Given the description of an element on the screen output the (x, y) to click on. 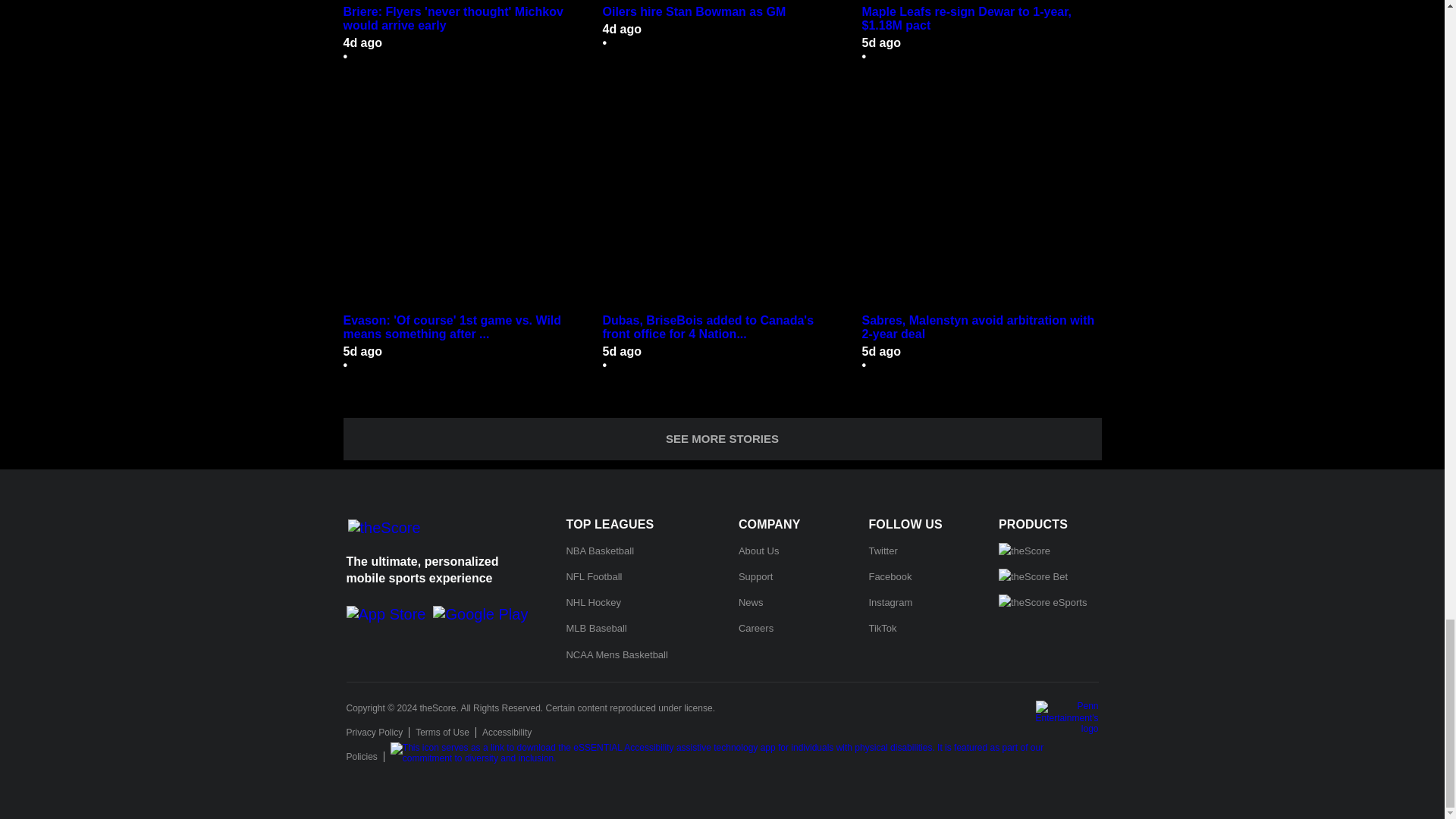
Oilers hire Stan Bowman as GM (721, 2)
Briere: Flyers 'never thought' Michkov would arrive early (462, 2)
2024-07-24T13:36:54.000Z (622, 29)
Briere: Flyers 'never thought' Michkov would arrive early (462, 18)
2024-07-24T20:10:57.000Z (361, 42)
2024-07-23T18:42:52.000Z (881, 42)
